Given the description of an element on the screen output the (x, y) to click on. 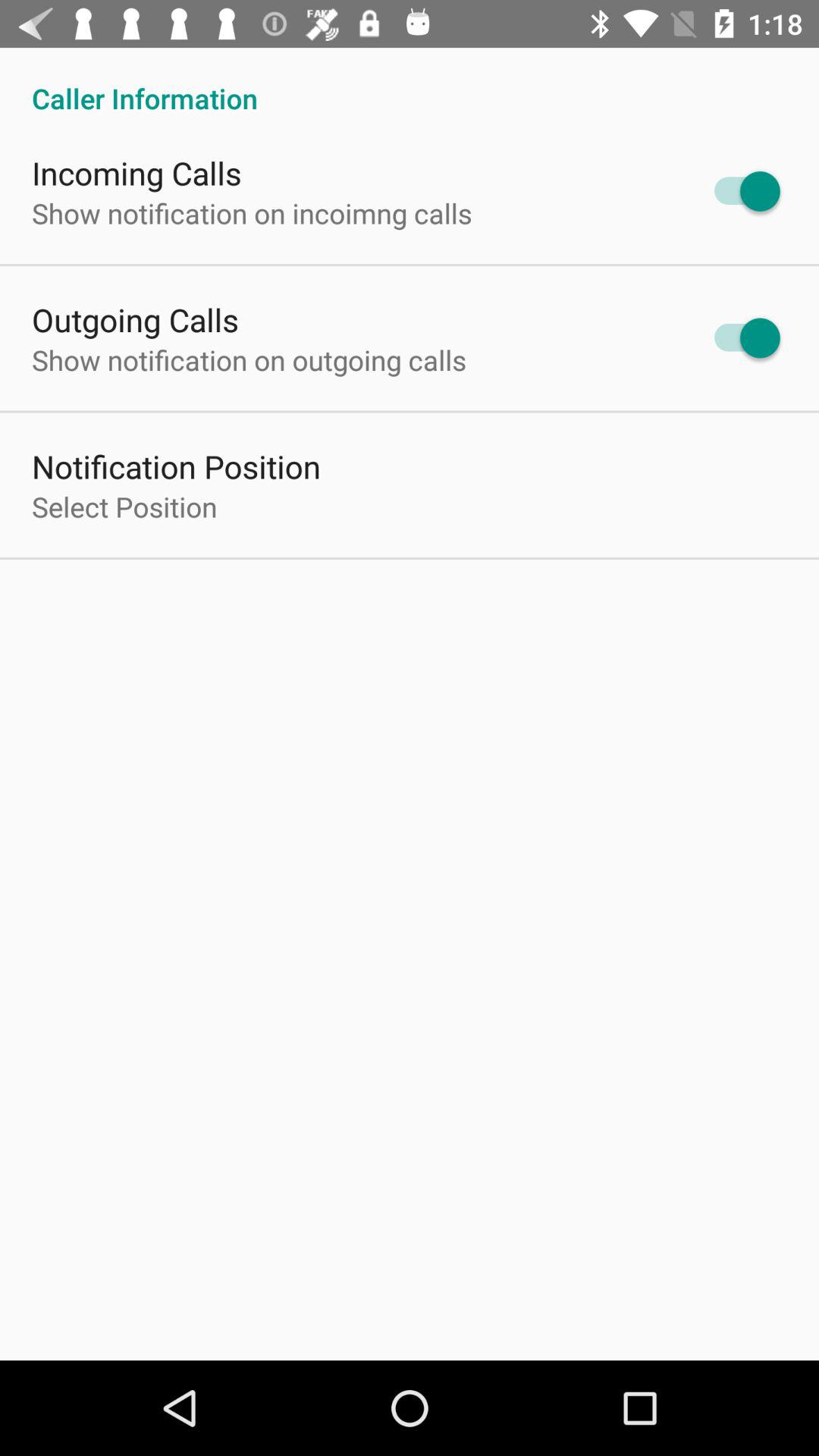
press the icon above the show notification on item (136, 172)
